Given the description of an element on the screen output the (x, y) to click on. 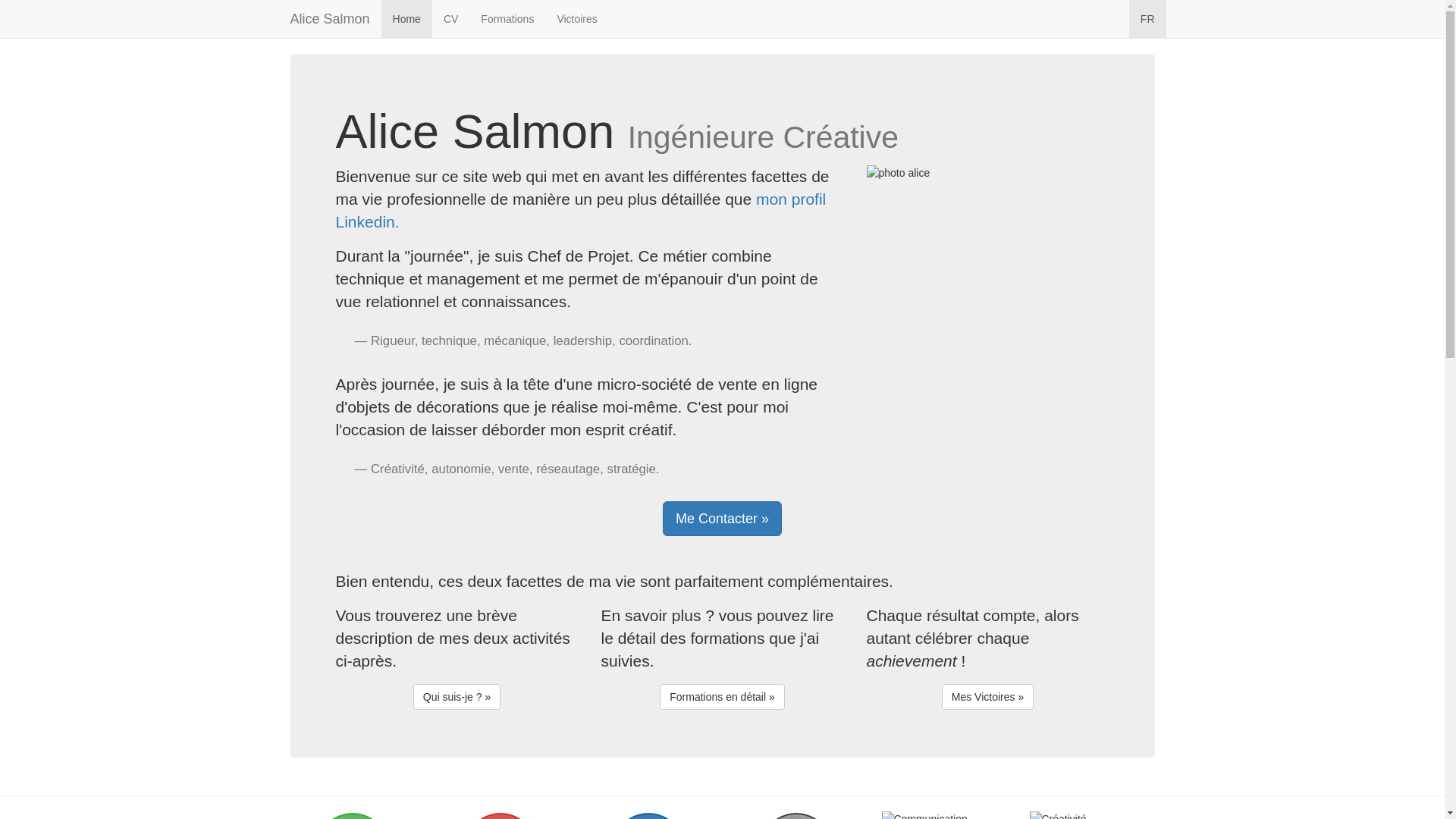
Victoires Element type: text (576, 18)
Formations Element type: text (507, 18)
Alice Salmon Element type: text (330, 18)
FR
(current) Element type: text (1147, 18)
Home Element type: text (406, 18)
CV Element type: text (450, 18)
mon profil Linkedin. Element type: text (580, 210)
photo alice Element type: hover (987, 172)
